Given the description of an element on the screen output the (x, y) to click on. 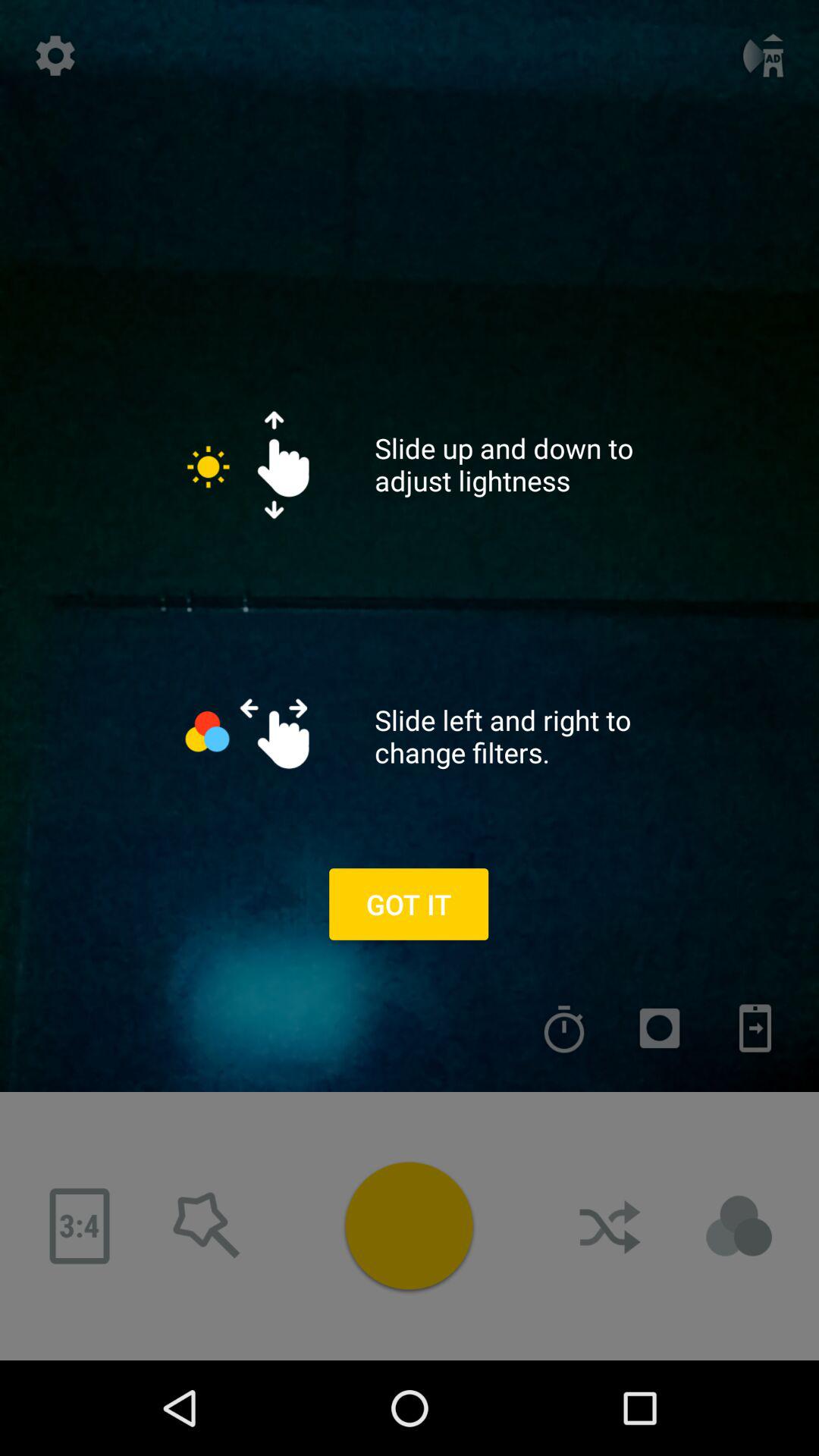
select button (408, 1225)
